Given the description of an element on the screen output the (x, y) to click on. 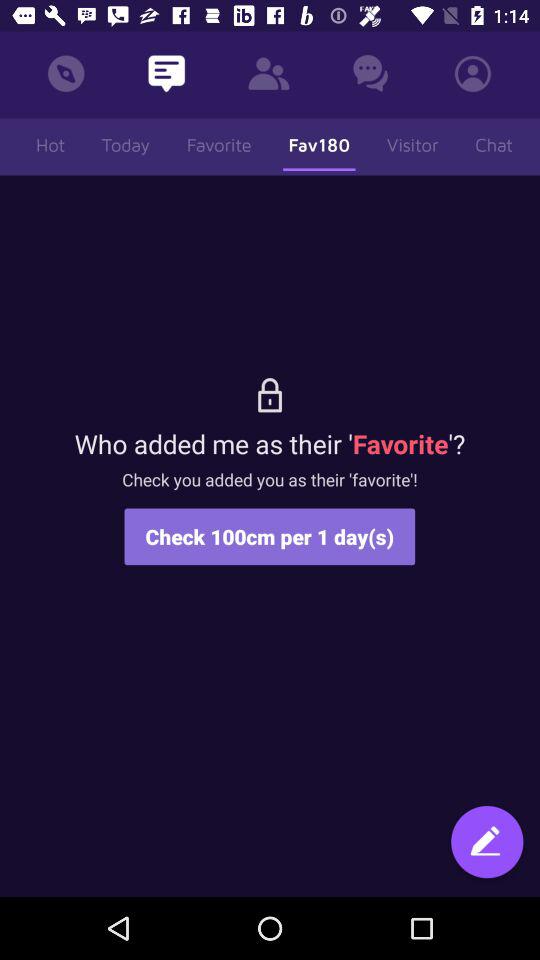
tap the item at the bottom right corner (487, 844)
